Given the description of an element on the screen output the (x, y) to click on. 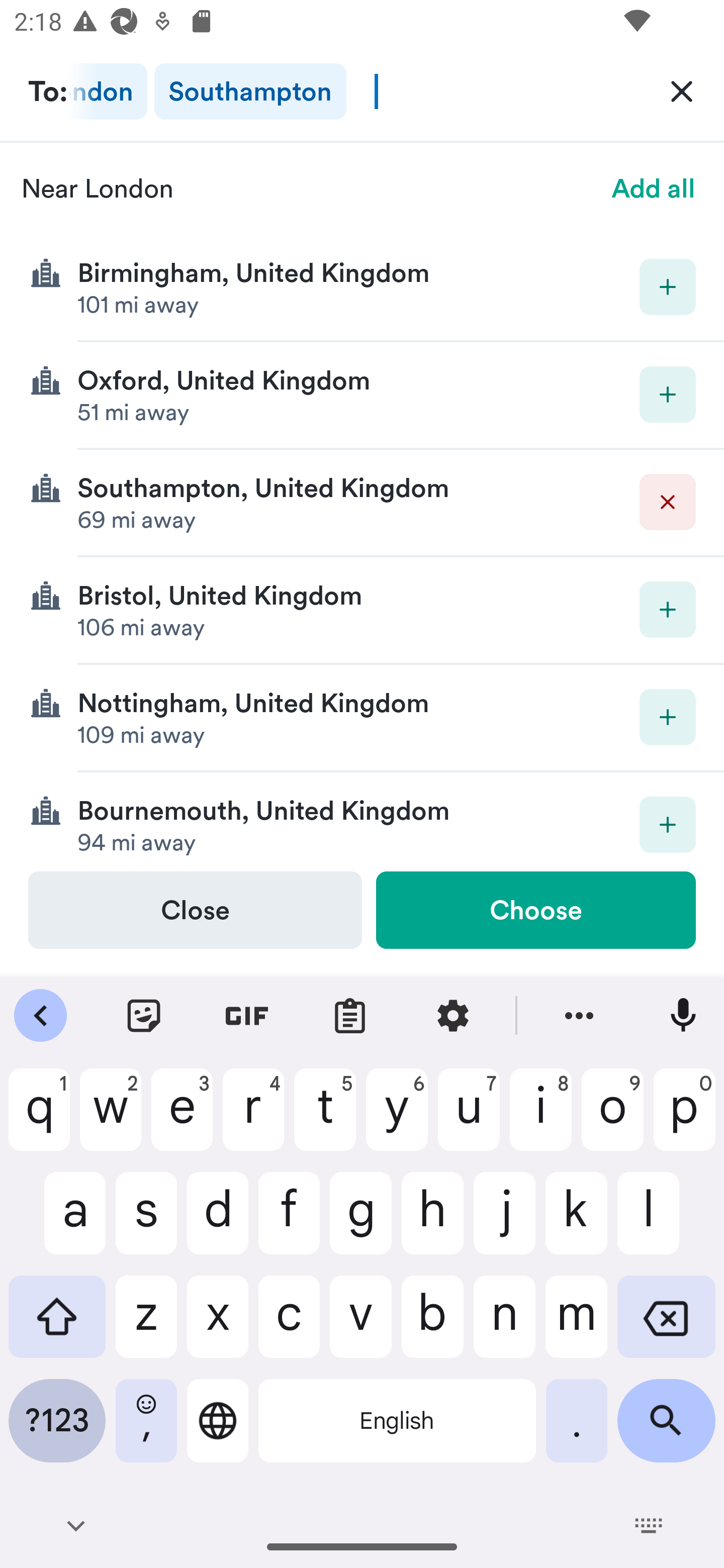
Clear All (681, 90)
London (107, 91)
Southampton (250, 91)
Add all (653, 187)
Add destination (667, 286)
Add destination Oxford, United Kingdom 51 mi away (362, 395)
Add destination (667, 394)
Delete Southampton, United Kingdom 69 mi away (362, 503)
Delete (667, 501)
Add destination (667, 609)
Add destination (667, 716)
Add destination (667, 824)
Close (195, 909)
Choose (535, 909)
